Given the description of an element on the screen output the (x, y) to click on. 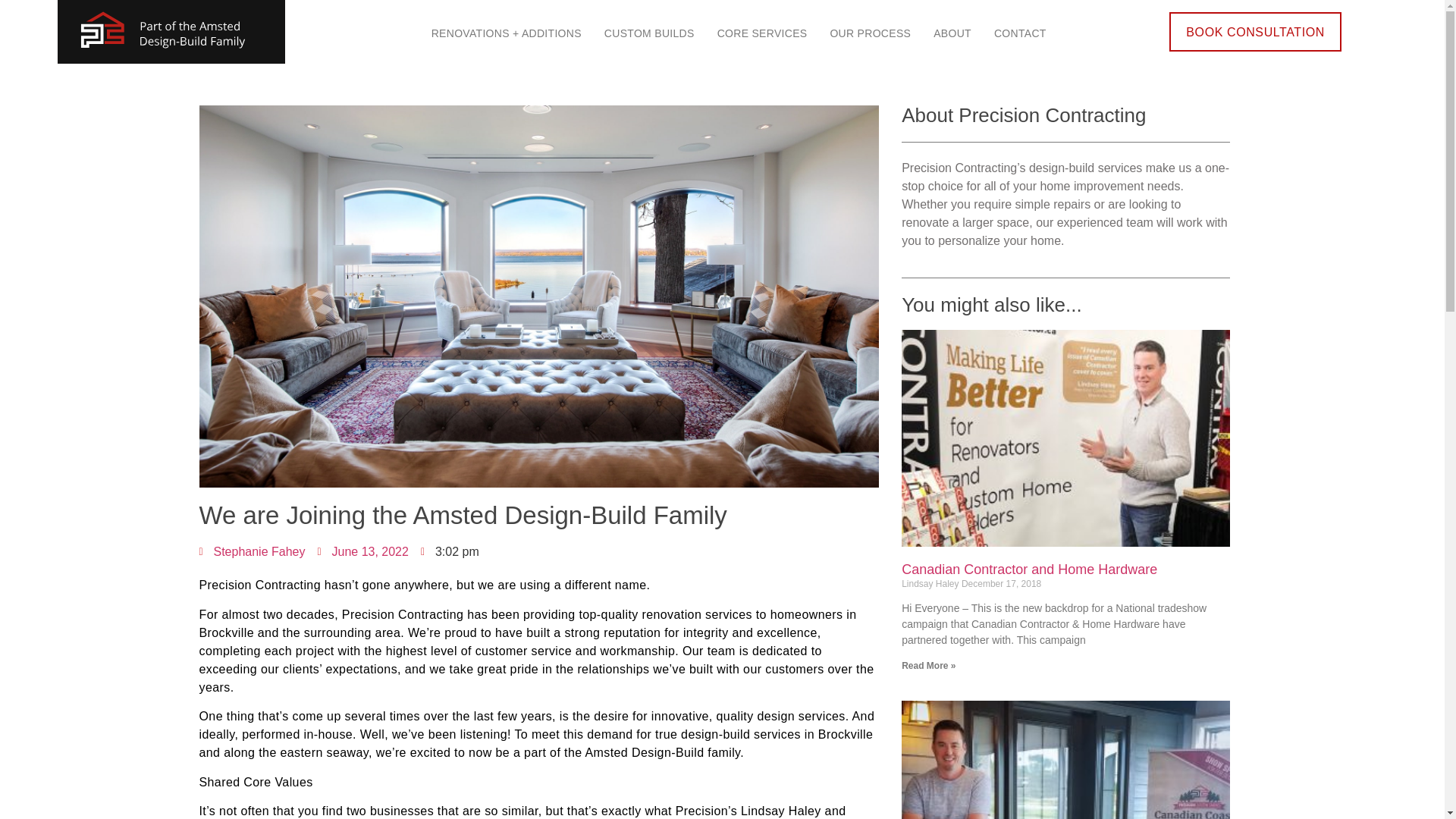
Stephanie Fahey (251, 551)
June 13, 2022 (362, 551)
OUR PROCESS (869, 33)
Canadian Contractor and Home Hardware (1029, 569)
CORE SERVICES (762, 33)
CONTACT (1020, 33)
CUSTOM BUILDS (649, 33)
BOOK CONSULTATION (1254, 31)
ABOUT (951, 33)
